Given the description of an element on the screen output the (x, y) to click on. 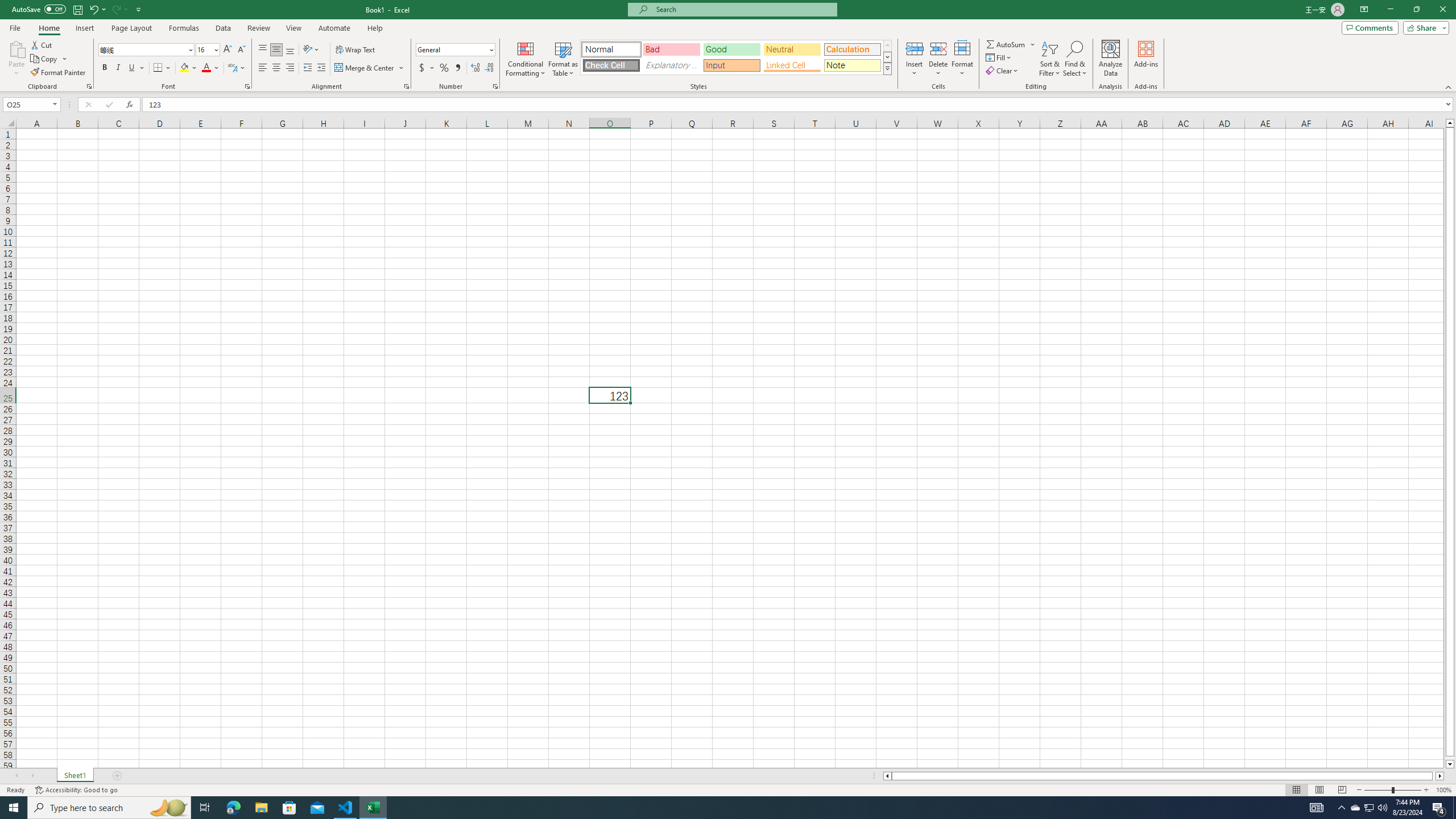
Bold (104, 67)
Merge & Center (365, 67)
Copy (45, 58)
Underline (131, 67)
Paste (16, 58)
Borders (162, 67)
Middle Align (276, 49)
